Given the description of an element on the screen output the (x, y) to click on. 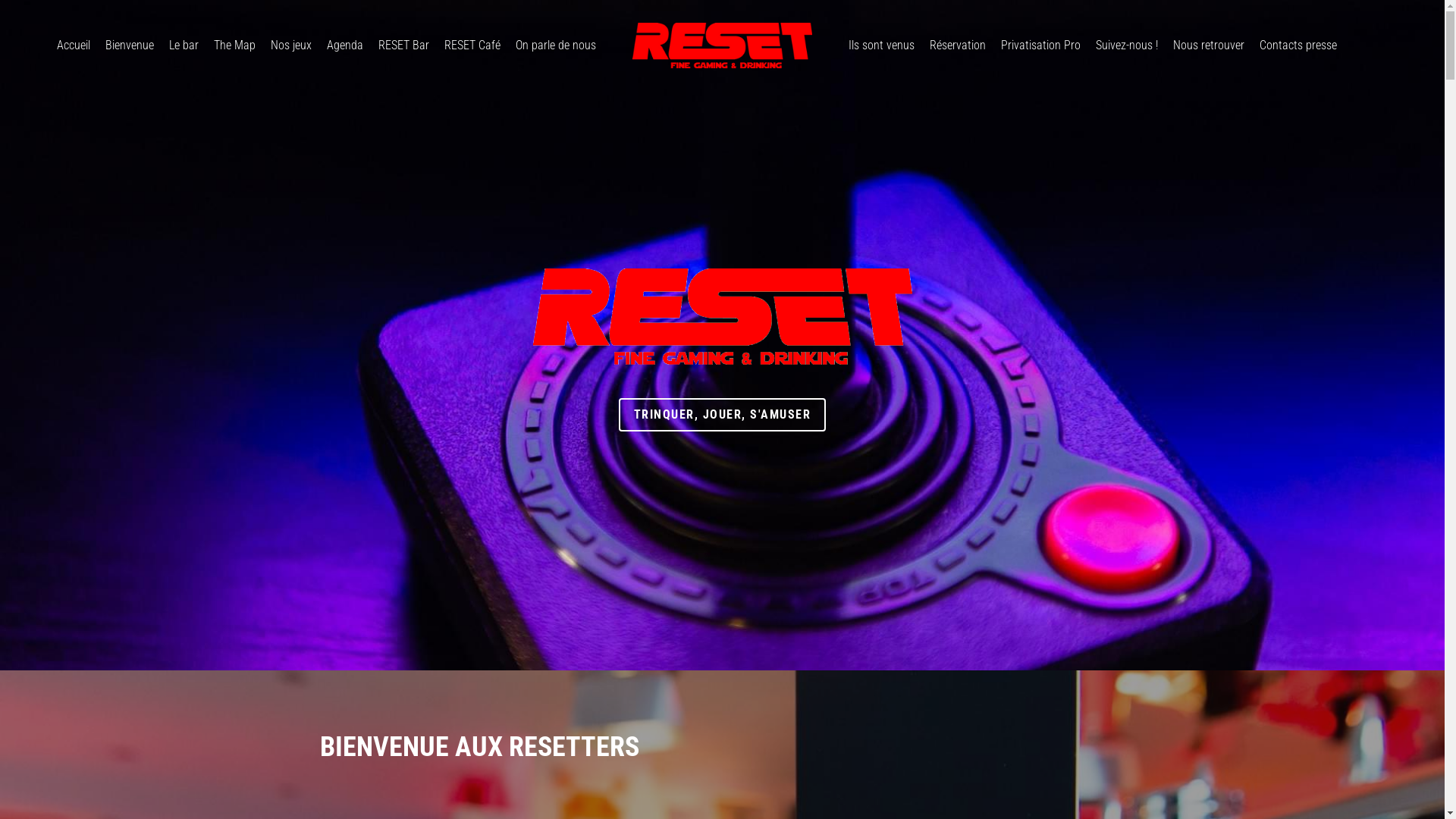
Accueil Element type: text (73, 45)
TRINQUER, JOUER, S'AMUSER Element type: text (722, 414)
The Map Element type: text (234, 45)
On parle de nous Element type: text (555, 45)
Ils sont venus Element type: text (881, 45)
Suivez-nous ! Element type: text (1126, 45)
Privatisation Pro Element type: text (1040, 45)
RESET Bar Element type: text (403, 45)
Contacts presse Element type: text (1297, 45)
Nous retrouver Element type: text (1208, 45)
Bienvenue Element type: text (129, 45)
Le bar Element type: text (183, 45)
Agenda Element type: text (344, 45)
Nos jeux Element type: text (290, 45)
